Given the description of an element on the screen output the (x, y) to click on. 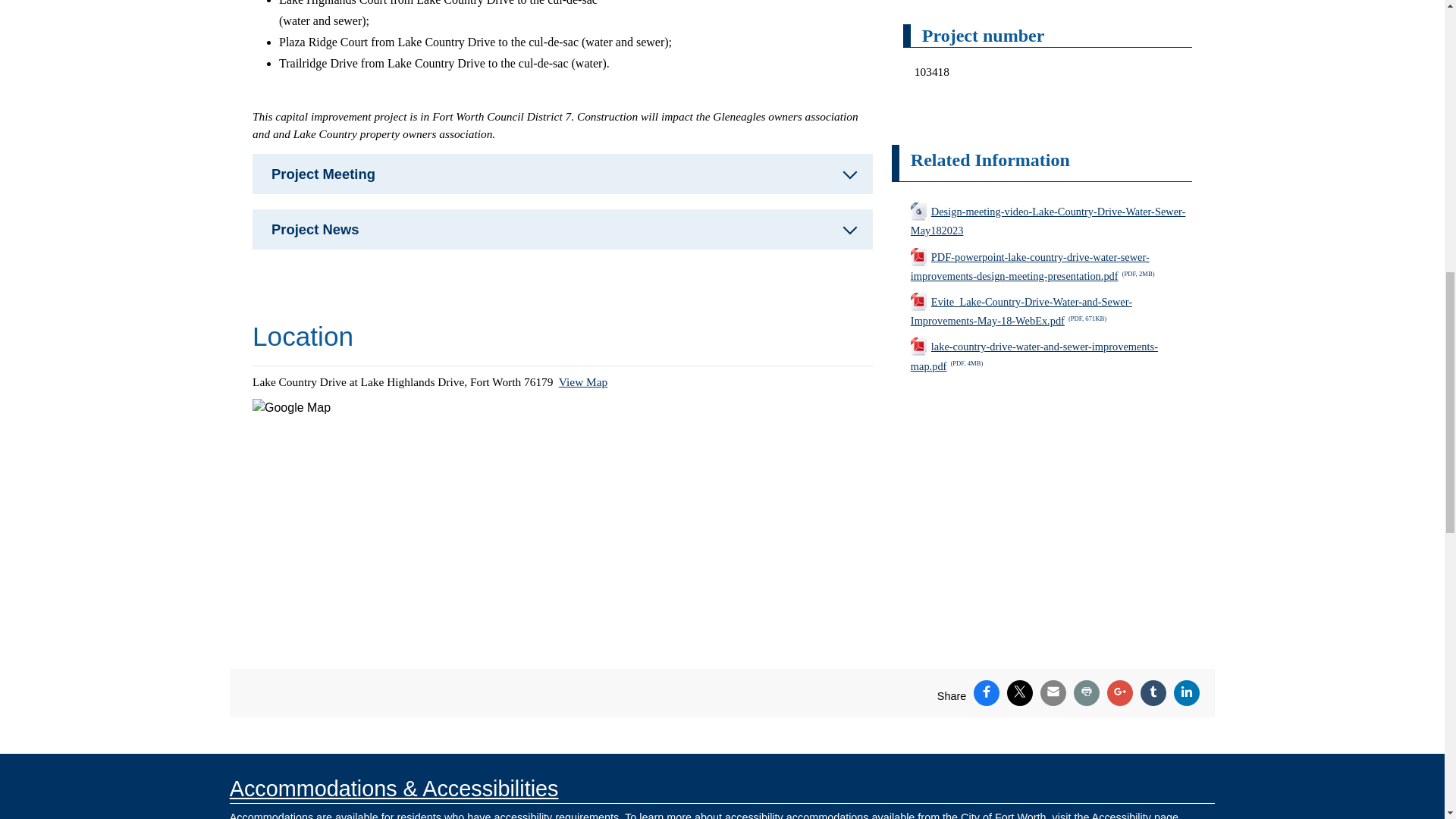
lake-country-drive-water-and-sewer-improvements-map.pdf (1051, 356)
